Given the description of an element on the screen output the (x, y) to click on. 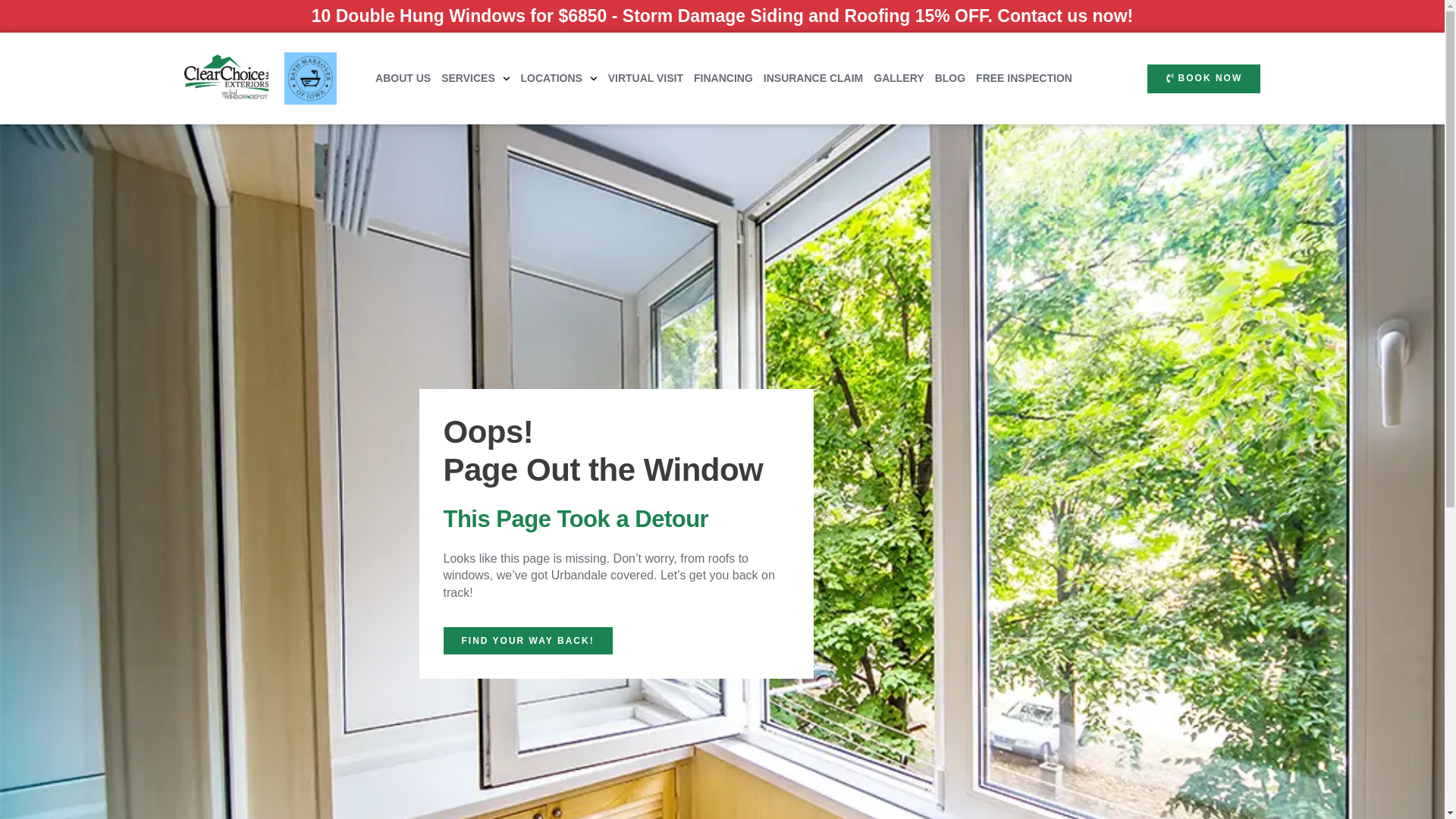
FREE INSPECTION (1023, 78)
SERVICES (475, 78)
LOCATIONS (558, 78)
VIRTUAL VISIT (645, 78)
GALLERY (898, 78)
FINANCING (723, 78)
BLOG (949, 78)
INSURANCE CLAIM (812, 78)
ABOUT US (402, 78)
